Given the description of an element on the screen output the (x, y) to click on. 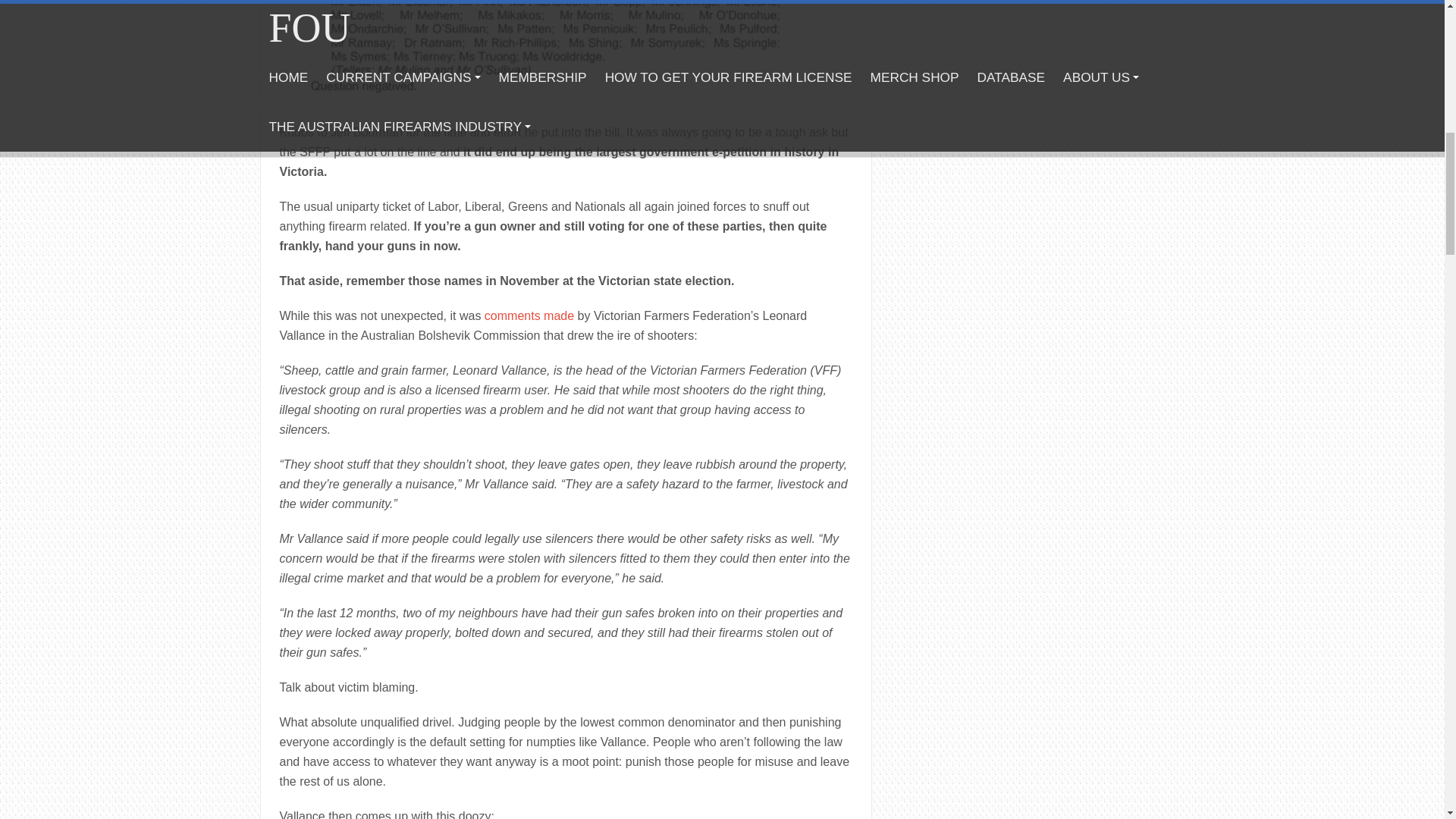
comments made (528, 315)
